Given the description of an element on the screen output the (x, y) to click on. 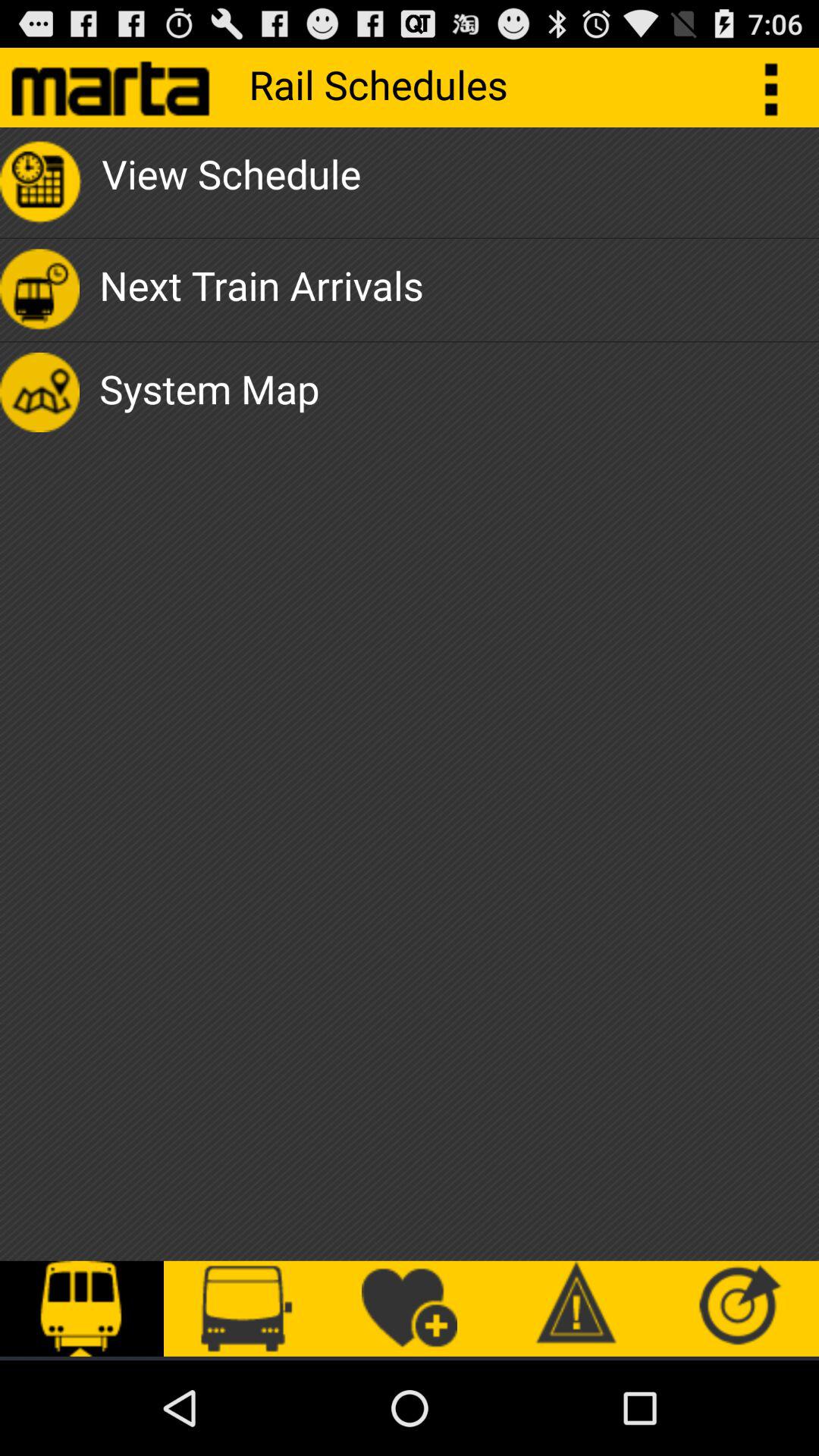
scroll to next train arrivals app (261, 289)
